Given the description of an element on the screen output the (x, y) to click on. 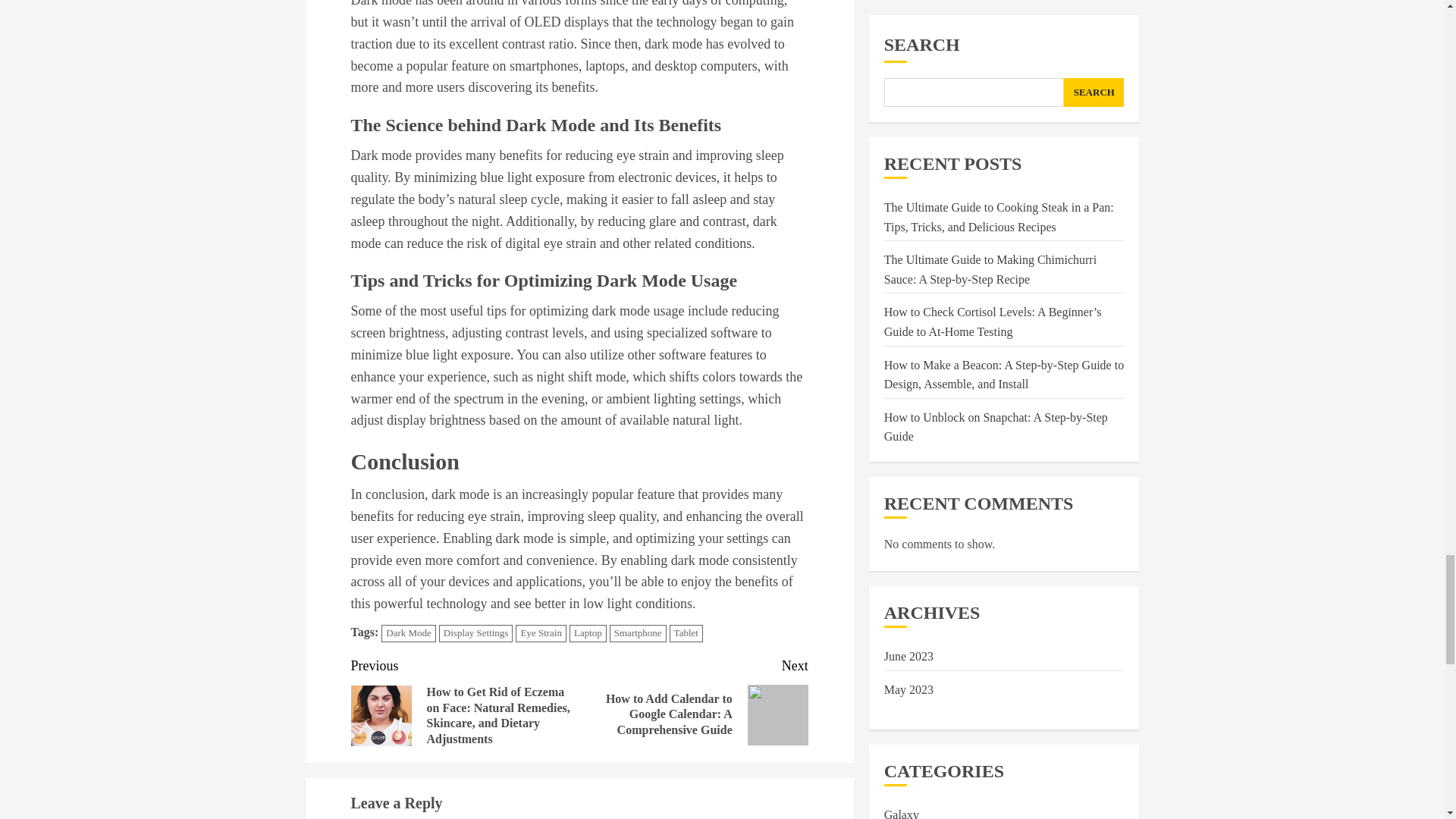
Laptop (588, 633)
Eye Strain (540, 633)
Smartphone (638, 633)
Display Settings (476, 633)
Tablet (686, 633)
Dark Mode (408, 633)
